Given the description of an element on the screen output the (x, y) to click on. 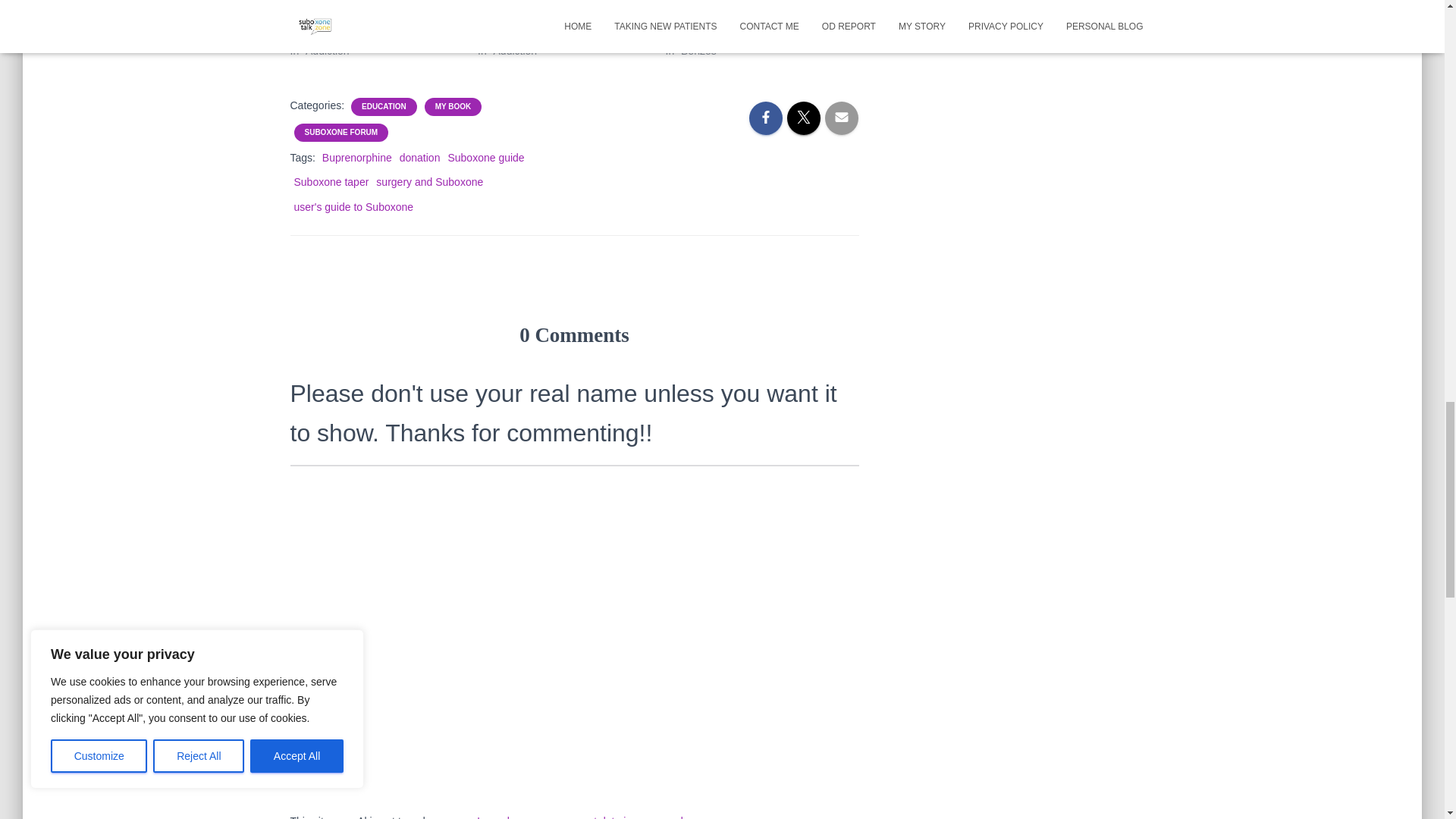
Buprenorphine (356, 157)
Suboxone and other medications; Xanax? (744, 13)
donation (419, 157)
MY BOOK (453, 106)
EDUCATION (383, 106)
Suboxone Treatment over Fifteen Years (555, 13)
SUBOXONE FORUM (341, 132)
